Given the description of an element on the screen output the (x, y) to click on. 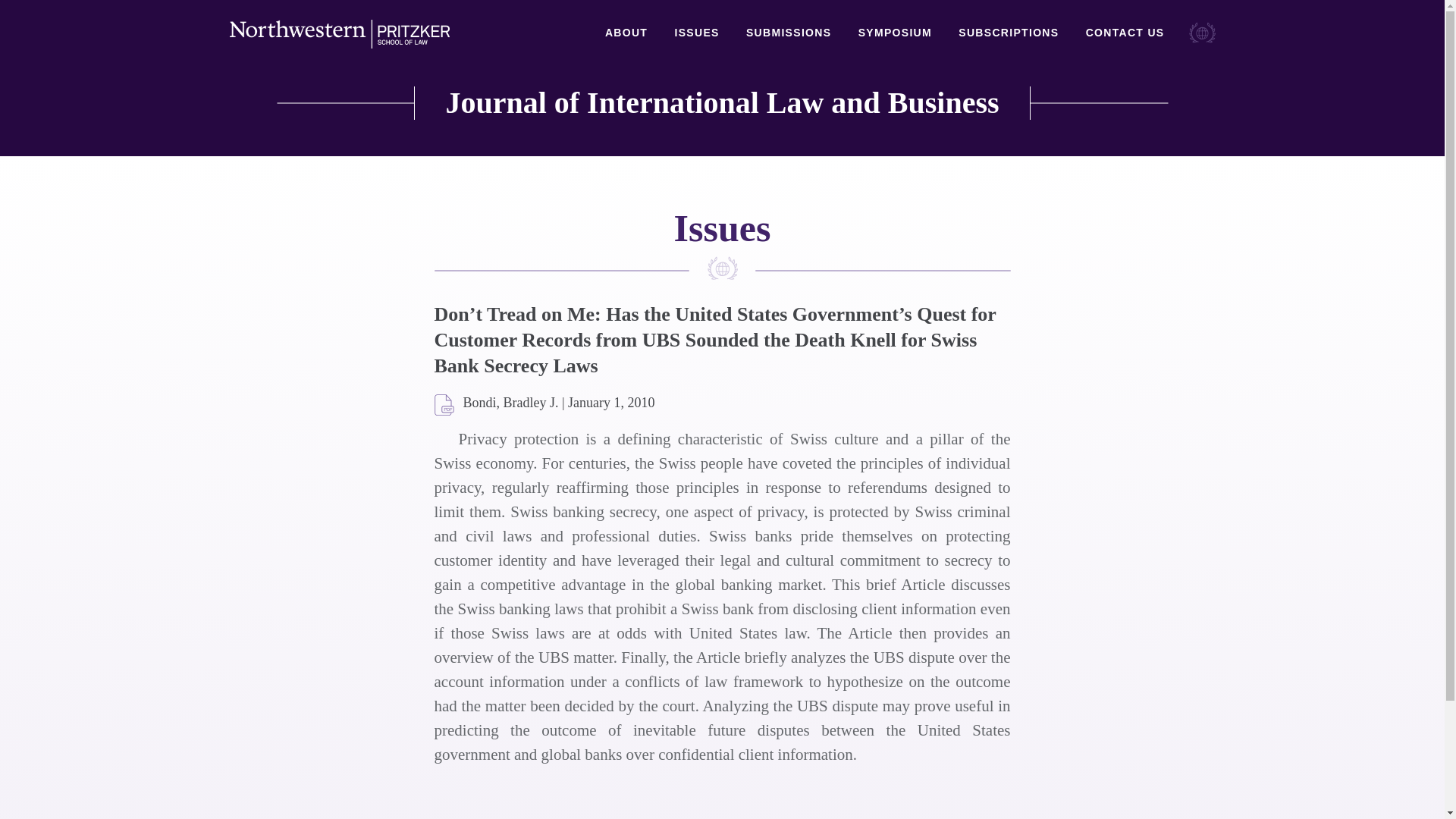
CONTACT US (1125, 32)
ABOUT (626, 32)
Journal of International Law and Business (721, 102)
Journal of International Law and Business (721, 102)
Northwestern Pritzker School of Law (338, 34)
SUBSCRIPTIONS (1008, 32)
SYMPOSIUM (895, 32)
SUBMISSIONS (788, 32)
ISSUES (696, 32)
